Given the description of an element on the screen output the (x, y) to click on. 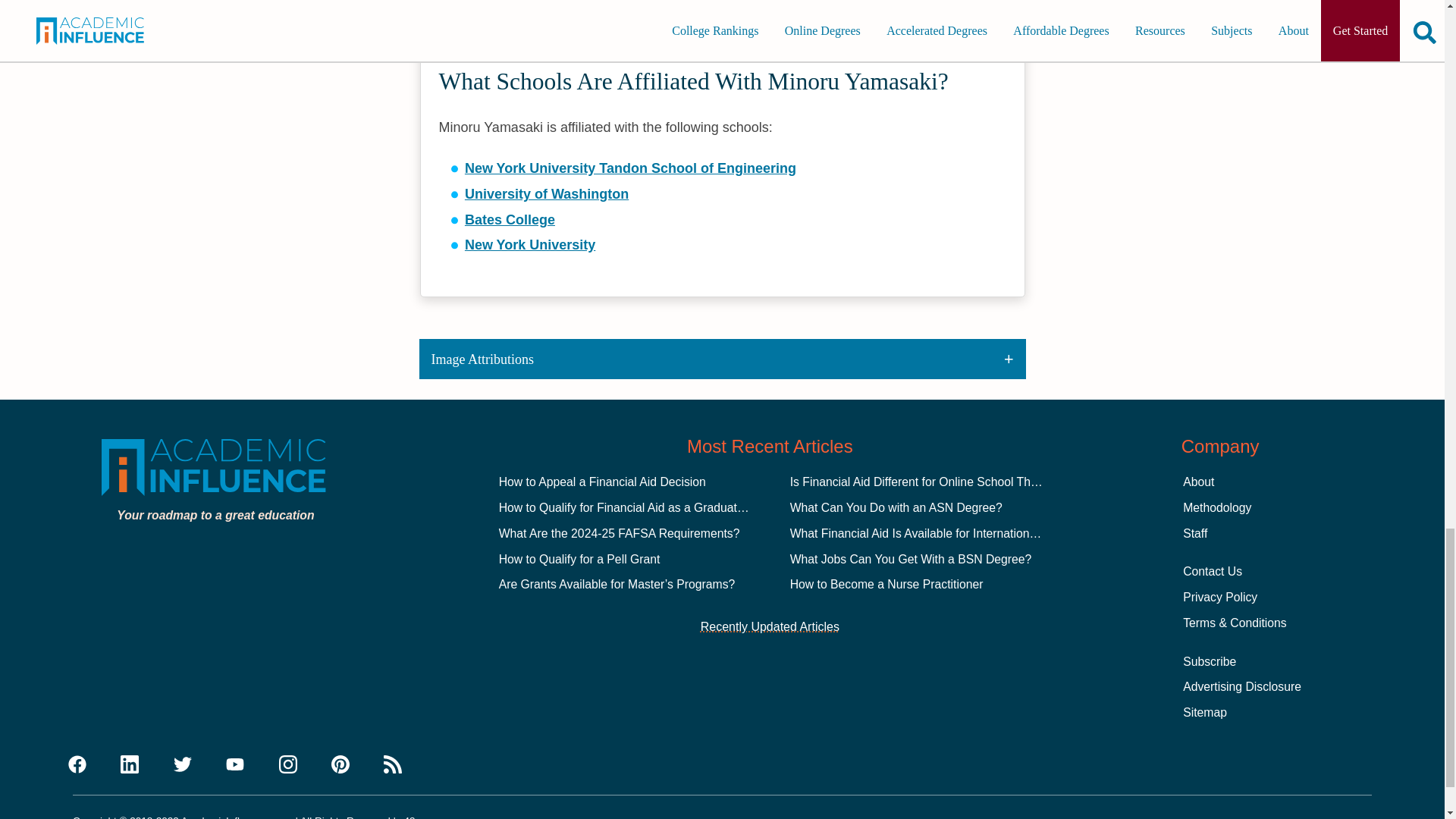
How to Become a Nurse Practitioner (887, 584)
Privacy Policy (1219, 596)
How to Qualify for Financial Aid as a Graduate Student (644, 507)
Methodology (1216, 507)
Contact Us (1211, 571)
How to Qualify for a Pell Grant (580, 558)
What Can You Do with an ASN Degree? (896, 507)
About (1198, 481)
What Jobs Can You Get With a BSN Degree? (911, 558)
What Financial Aid Is Available for International Students? (943, 533)
Is Financial Aid Different for Online School Than In-Person? (947, 481)
How to Appeal a Financial Aid Decision (602, 481)
Staff (1194, 533)
New York University (529, 244)
New York University Tandon School of Engineering (630, 168)
